Given the description of an element on the screen output the (x, y) to click on. 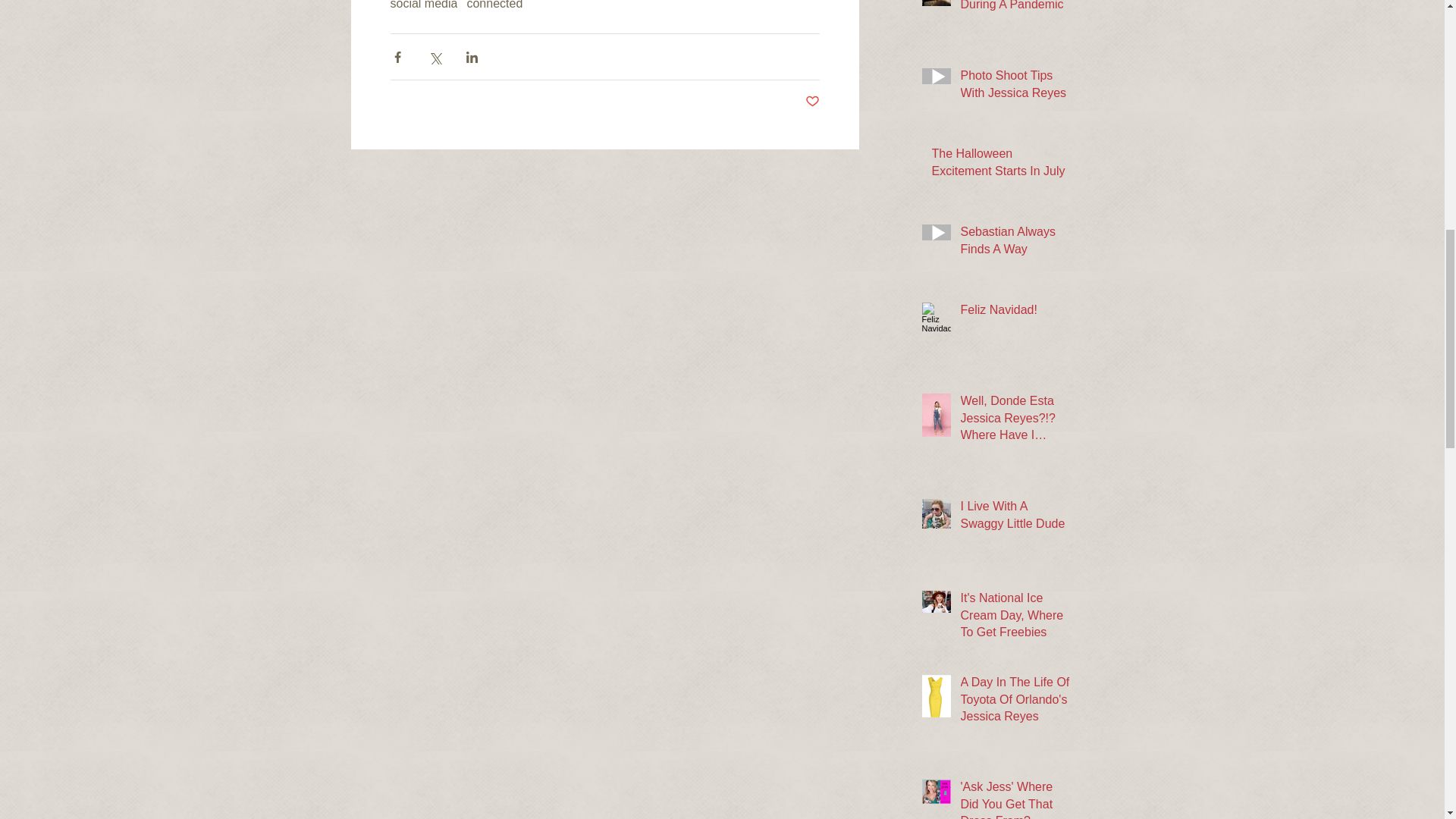
Photo Shoot Tips With Jessica Reyes (1013, 87)
Feliz Navidad! (1013, 313)
How We Celebrated Labor Day 2020 During A Pandemic (1013, 9)
Sebastian Always Finds A Way (1013, 243)
It's National Ice Cream Day, Where To Get Freebies (1013, 618)
connected (493, 5)
Post not marked as liked (812, 101)
A Day In The Life Of Toyota Of Orlando's Jessica Reyes (1013, 702)
Well, Donde Esta Jessica Reyes?!? Where Have I Been? (1013, 421)
'Ask Jess' Where Did You Get That Dress From? (1013, 798)
